Given the description of an element on the screen output the (x, y) to click on. 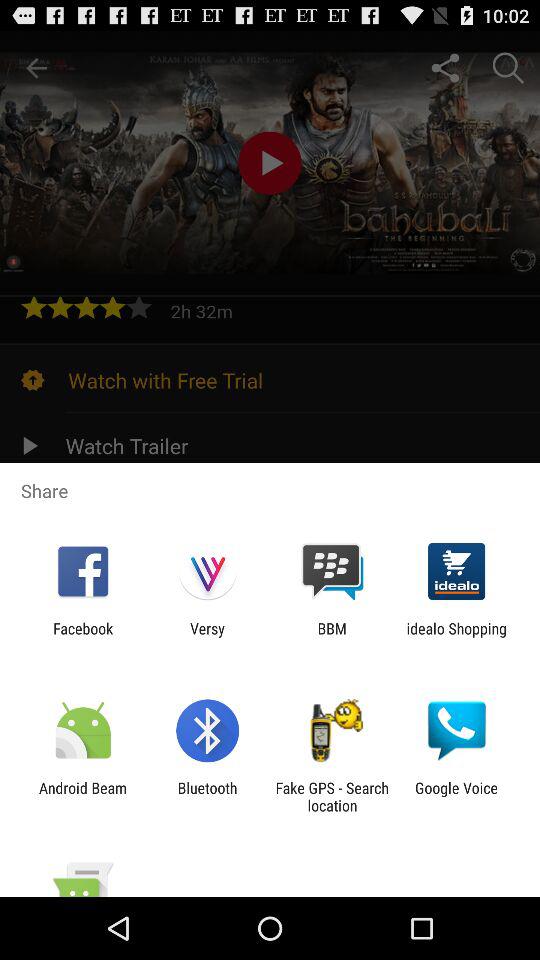
select bbm icon (331, 637)
